Given the description of an element on the screen output the (x, y) to click on. 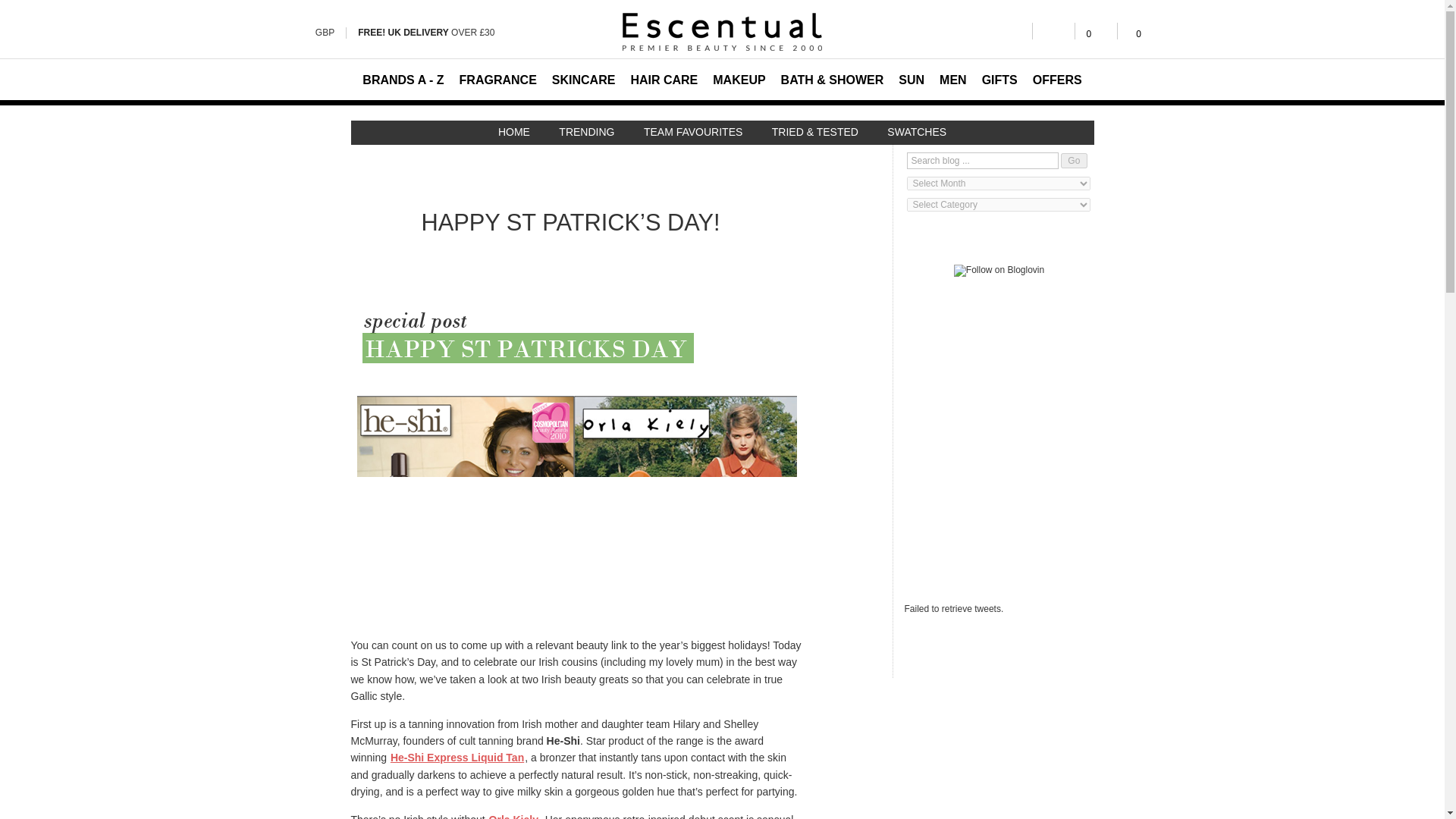
Go (1074, 160)
Escentual (722, 31)
0 (1095, 30)
Follow Escentual News on Bloglovin (999, 270)
0 (1133, 30)
BRANDS A - Z (403, 78)
GBP (324, 32)
